Given the description of an element on the screen output the (x, y) to click on. 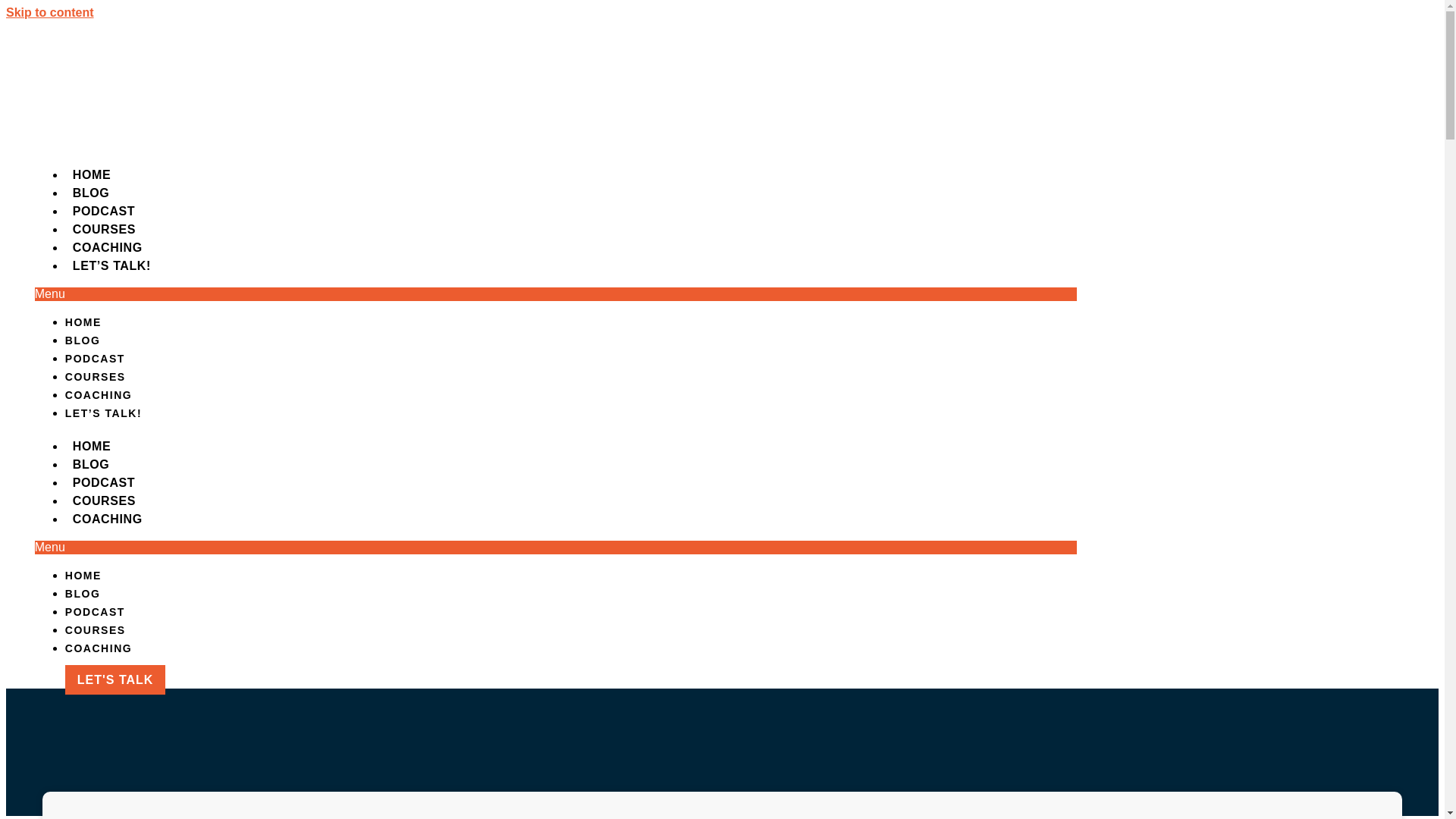
PODCAST (95, 612)
HOME (91, 174)
BLOG (82, 340)
PODCAST (95, 358)
BLOG (82, 593)
LET'S TALK (115, 679)
HOME (83, 575)
PODCAST (103, 482)
COURSES (103, 229)
COURSES (95, 630)
